Given the description of an element on the screen output the (x, y) to click on. 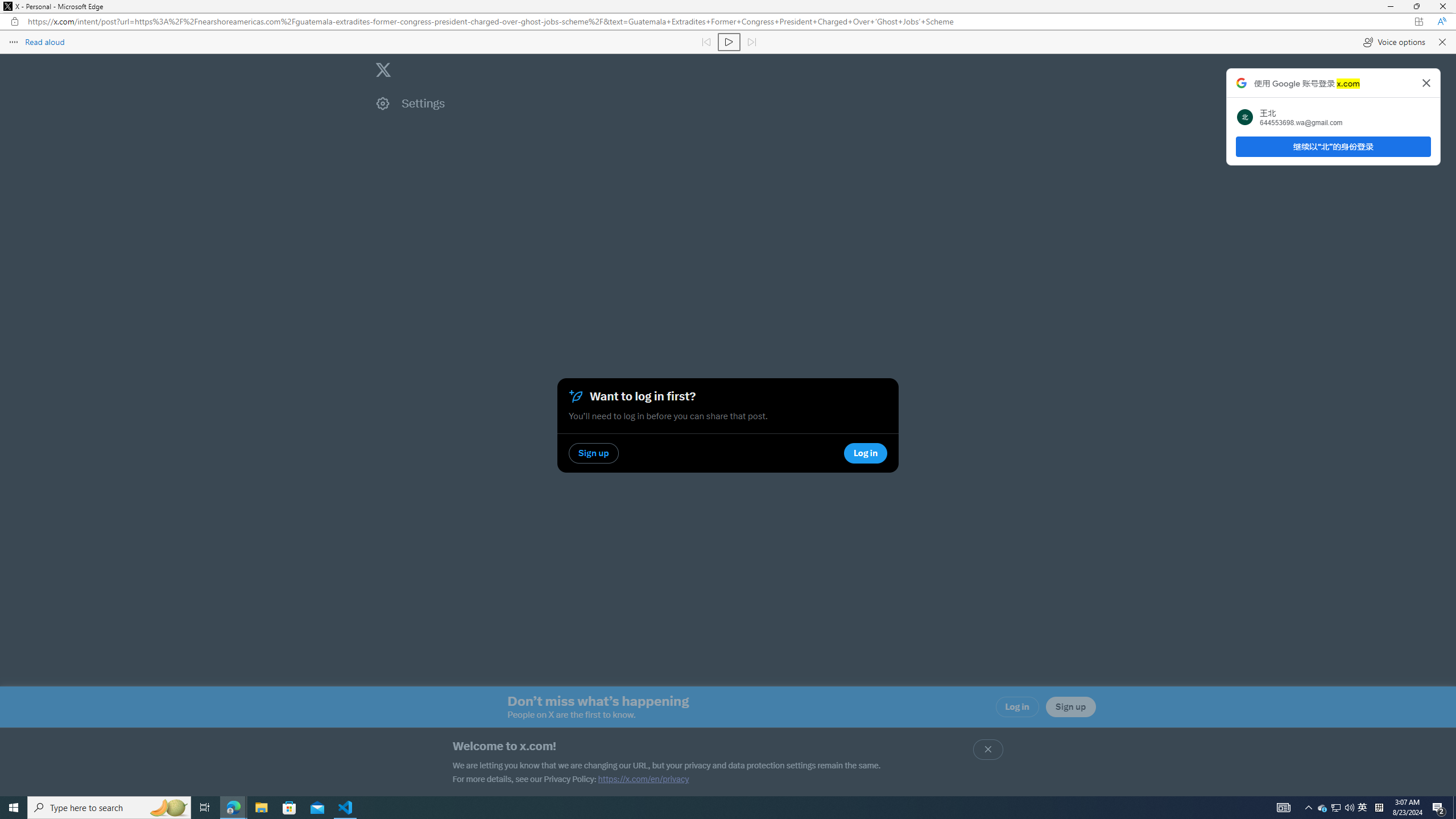
Log in (1017, 706)
Class: Bz112c Bz112c-r9oPif (1425, 83)
App available. Install X (1418, 20)
https://x.com/en/privacy (643, 778)
Read next paragraph (750, 41)
Voice options (1393, 41)
Close read aloud (1441, 41)
Continue to read aloud (Ctrl+Shift+U) (729, 41)
Sign up (1070, 706)
Read previous paragraph (705, 41)
